Given the description of an element on the screen output the (x, y) to click on. 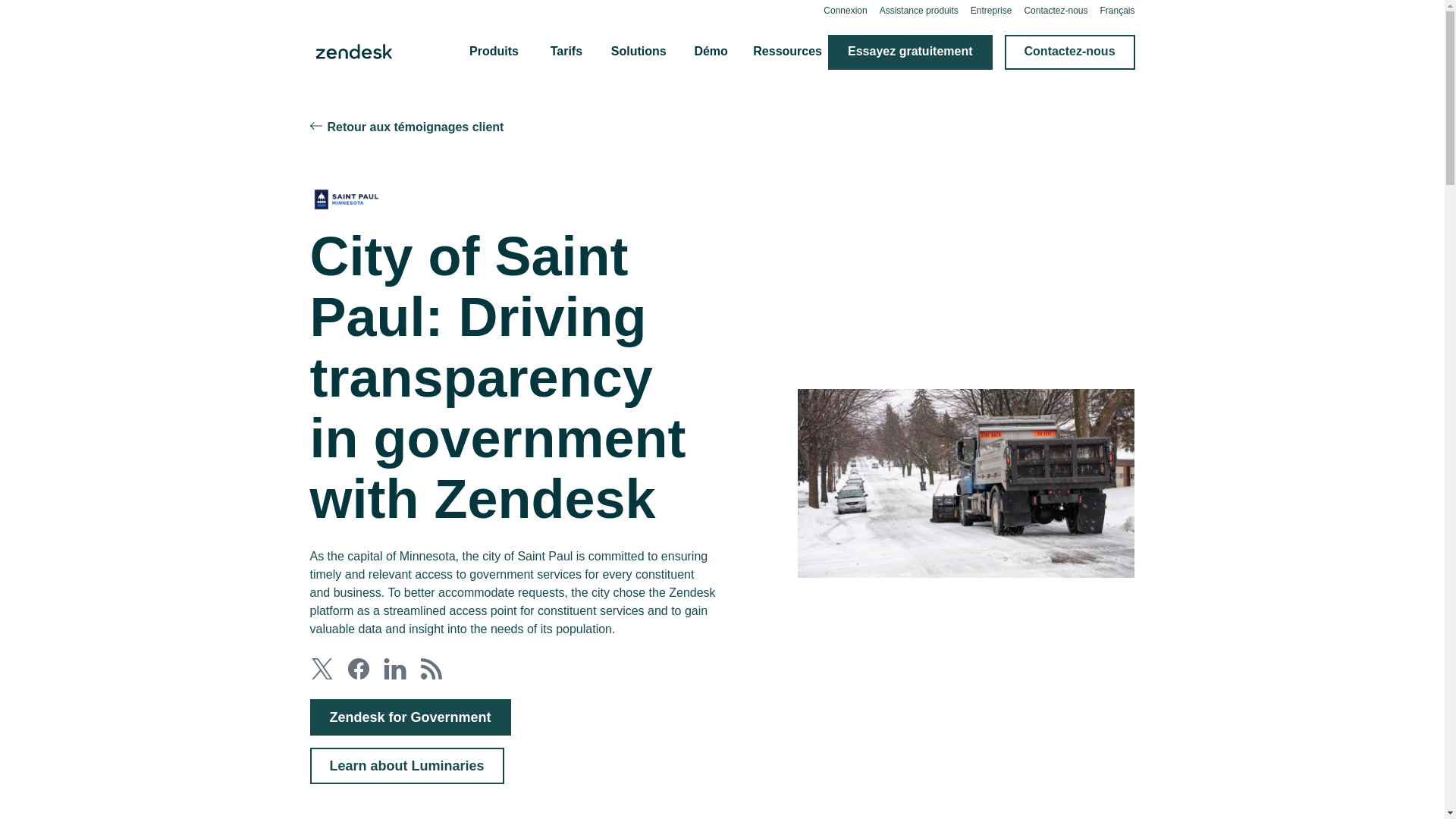
Entreprise (991, 9)
Connexion (845, 9)
Essayez gratuitement (910, 52)
Assistance produits (918, 9)
